Given the description of an element on the screen output the (x, y) to click on. 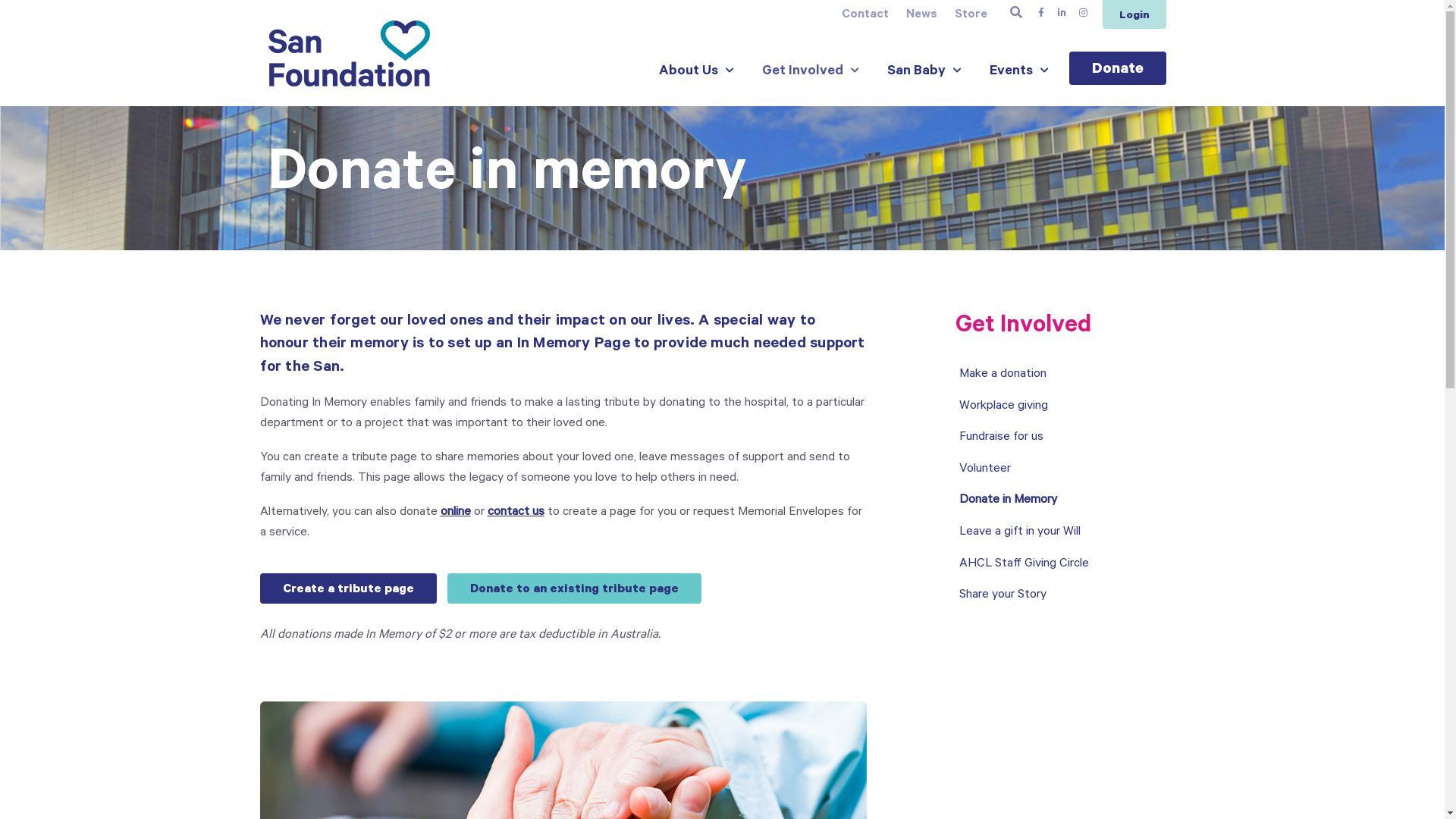
Events Element type: text (1018, 71)
News Element type: text (920, 15)
contact us Element type: text (514, 512)
Contact Element type: text (864, 15)
Store Element type: text (969, 15)
Create a tribute page Element type: text (347, 588)
About Us Element type: text (696, 71)
Get Involved Element type: text (810, 71)
Donate to an existing tribute page Element type: text (574, 588)
Workplace giving Element type: text (1066, 407)
Donate in Memory Element type: text (1066, 501)
online Element type: text (454, 512)
Make a donation Element type: text (1066, 375)
Volunteer Element type: text (1066, 470)
Get Involved Element type: text (1023, 327)
Donate Element type: text (1117, 67)
Fundraise for us Element type: text (1066, 438)
Share your Story Element type: text (1066, 595)
AHCL Staff Giving Circle Element type: text (1066, 564)
San Baby Element type: text (923, 71)
Login Element type: text (1134, 14)
Leave a gift in your Will Element type: text (1066, 532)
